Given the description of an element on the screen output the (x, y) to click on. 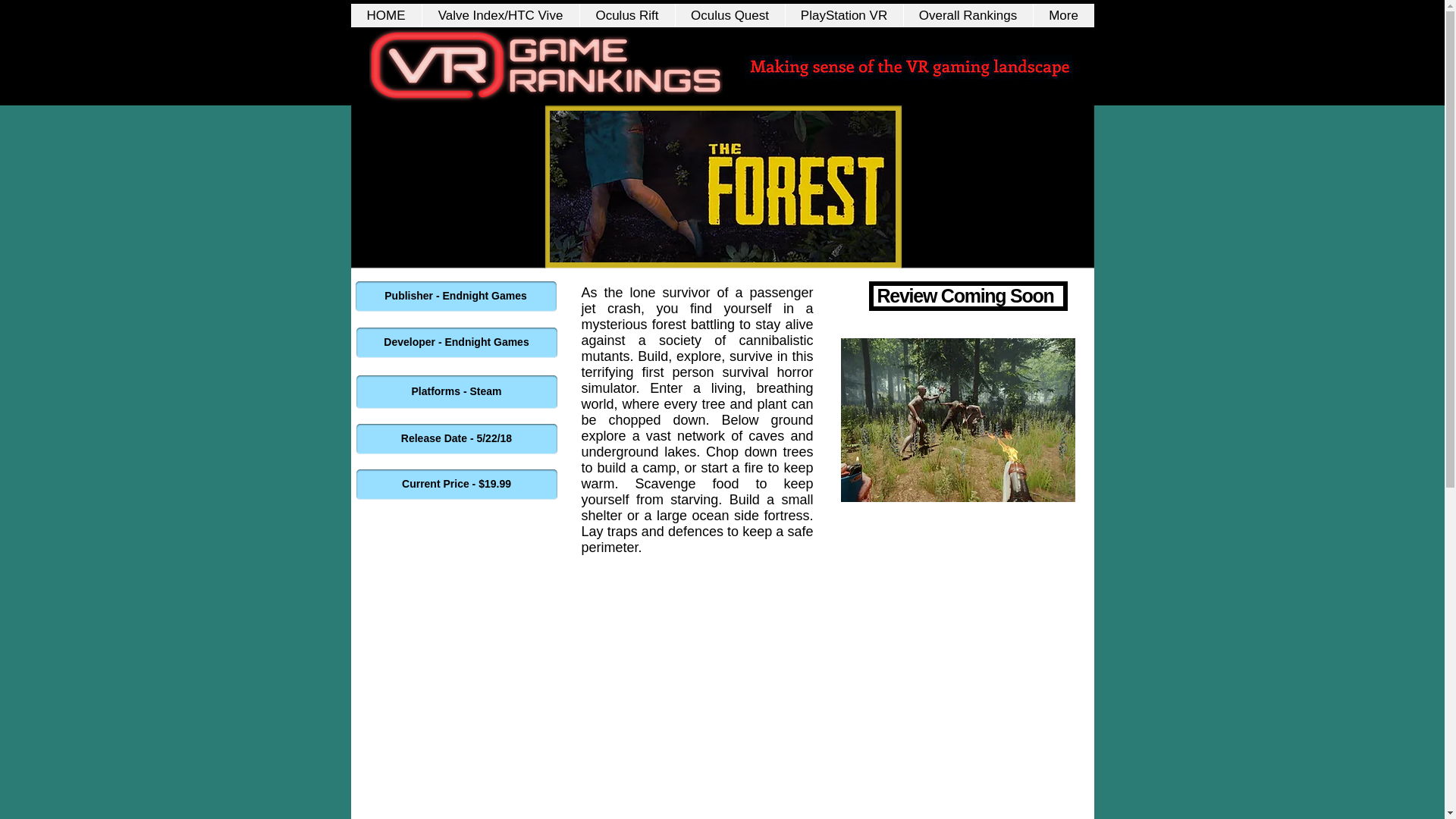
External YouTube (697, 702)
PlayStation VR (843, 15)
HOME (385, 15)
Oculus Rift (627, 15)
Oculus Quest (729, 15)
Overall Rankings (967, 15)
